Given the description of an element on the screen output the (x, y) to click on. 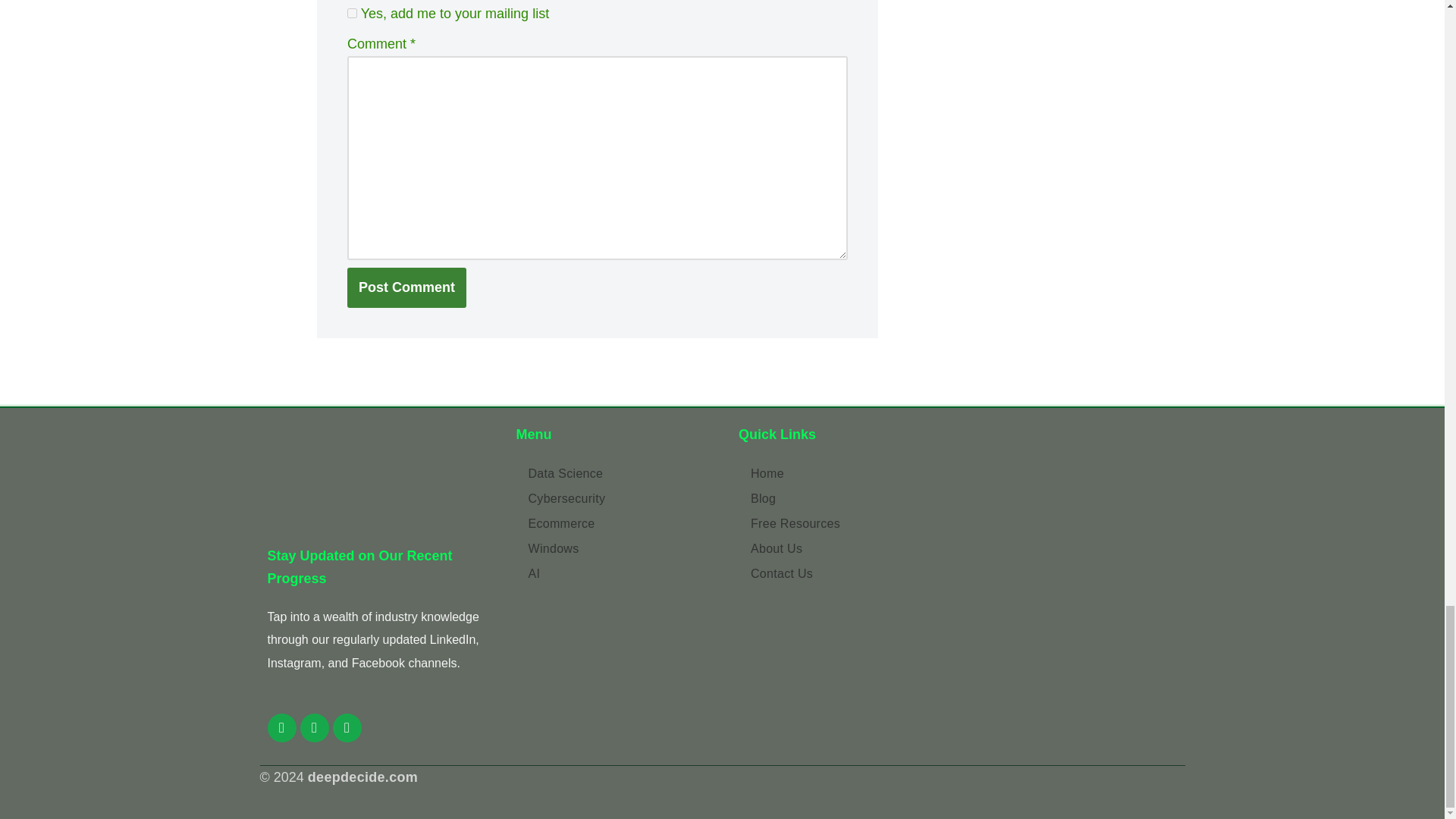
Post Comment (406, 287)
Home (794, 473)
Data Science (566, 473)
1 (351, 13)
AI (566, 573)
Blog (794, 498)
Cybersecurity (566, 498)
Ecommerce (566, 523)
Windows (566, 548)
Post Comment (406, 287)
